Given the description of an element on the screen output the (x, y) to click on. 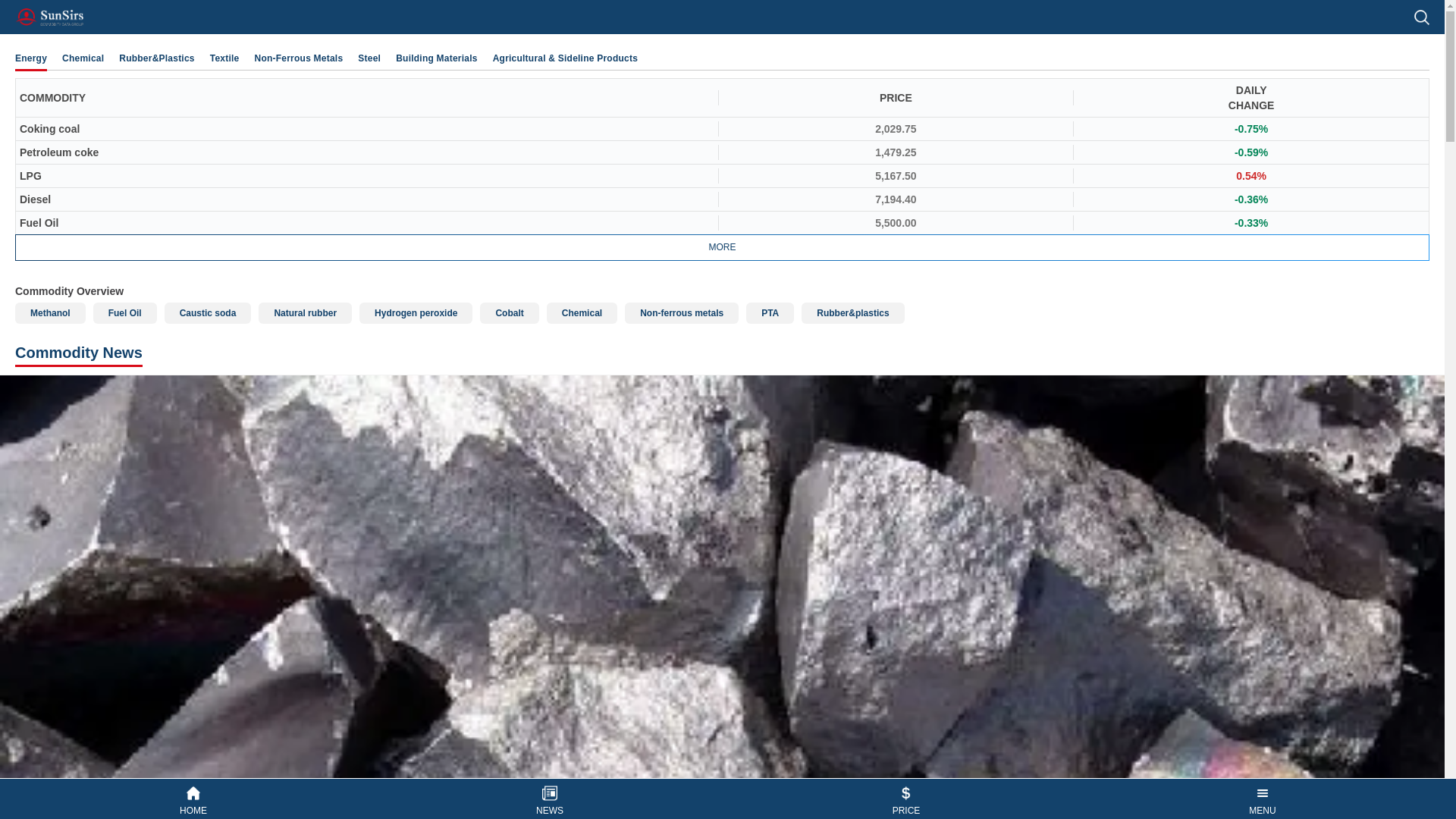
PTA (769, 312)
Energy (30, 58)
MORE (722, 247)
Chemical (82, 58)
Steel (369, 58)
Building Materials (436, 58)
Fuel Oil (125, 312)
Methanol (49, 312)
Non-Ferrous Metals (298, 58)
Textile (224, 58)
Chemical (582, 312)
Natural rubber (305, 312)
Hydrogen peroxide (415, 312)
Non-ferrous metals (681, 312)
Caustic soda (207, 312)
